Given the description of an element on the screen output the (x, y) to click on. 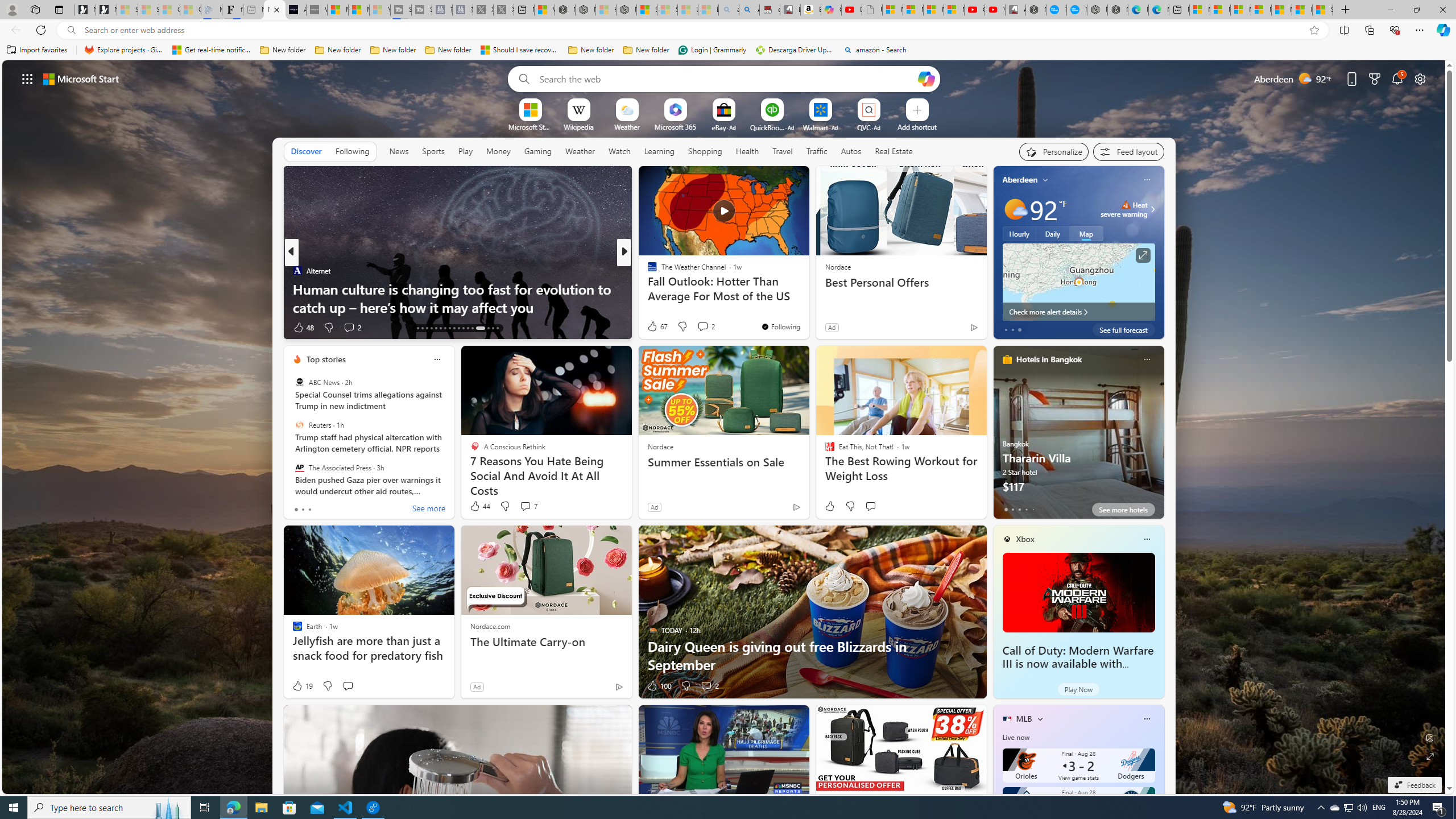
The most popular Google 'how to' searches (1076, 9)
Should I save recovered Word documents? - Microsoft Support (519, 49)
Feedback (1414, 784)
tab-3 (1025, 509)
MLB (1024, 718)
AutomationID: tab-40 (480, 328)
AI Voice Changer for PC and Mac - Voice.ai (296, 9)
Microsoft start (81, 78)
AutomationID: tab-17 (417, 328)
Settings and more (Alt+F) (1419, 29)
View comments 7 Comment (528, 505)
Discover (306, 151)
More interests (1039, 718)
